Given the description of an element on the screen output the (x, y) to click on. 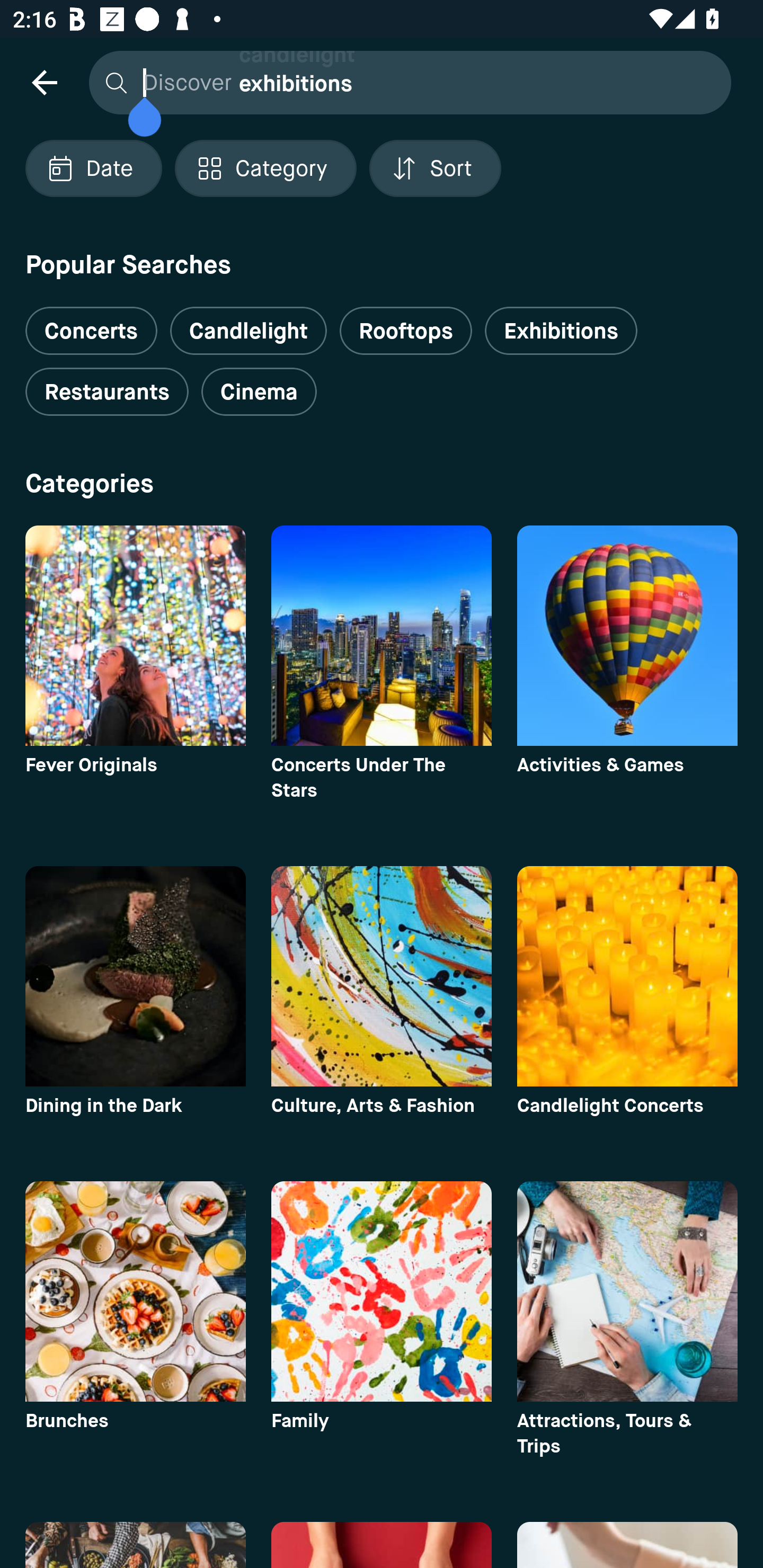
navigation icon (44, 81)
Discover candlelight exhibitions (405, 81)
Localized description Date (93, 168)
Localized description Category (265, 168)
Localized description Sort (435, 168)
Concerts (91, 323)
Candlelight (248, 330)
Rooftops (405, 330)
Exhibitions (560, 330)
Restaurants (106, 391)
Cinema (258, 391)
category image (135, 635)
category image (381, 635)
category image (627, 635)
category image (135, 975)
category image (381, 975)
category image (627, 975)
category image (135, 1290)
category image (381, 1290)
category image (627, 1290)
